Given the description of an element on the screen output the (x, y) to click on. 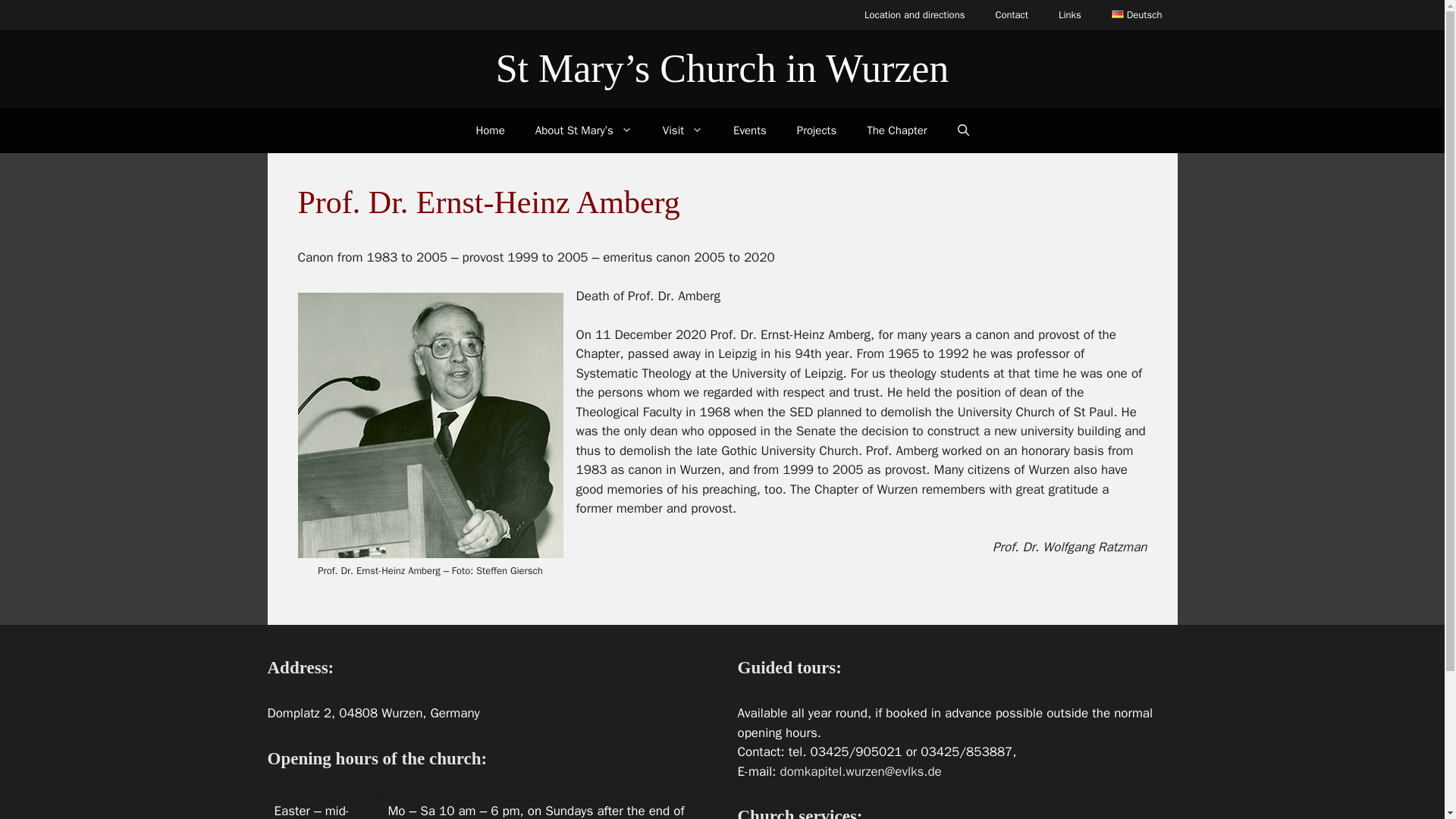
The Chapter (896, 130)
Events (749, 130)
Links (1069, 15)
Deutsch (1136, 15)
Contact (1011, 15)
Home (489, 130)
Visit (682, 130)
Location and directions (913, 15)
Projects (816, 130)
